Given the description of an element on the screen output the (x, y) to click on. 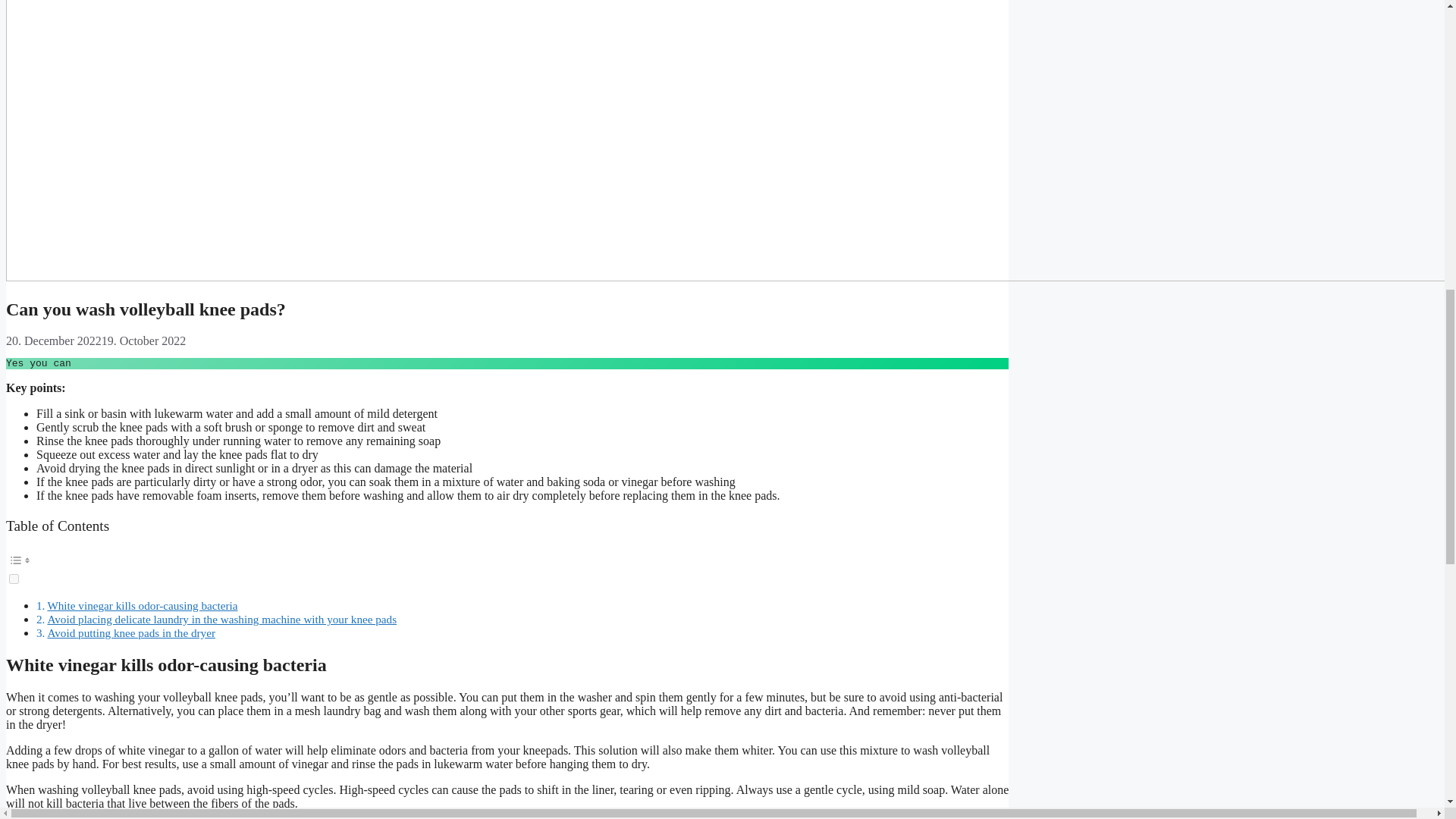
White vinegar kills odor-causing bacteria (141, 604)
White vinegar kills odor-causing bacteria (141, 604)
on (13, 578)
Avoid putting knee pads in the dryer (130, 632)
Avoid putting knee pads in the dryer (130, 632)
